Given the description of an element on the screen output the (x, y) to click on. 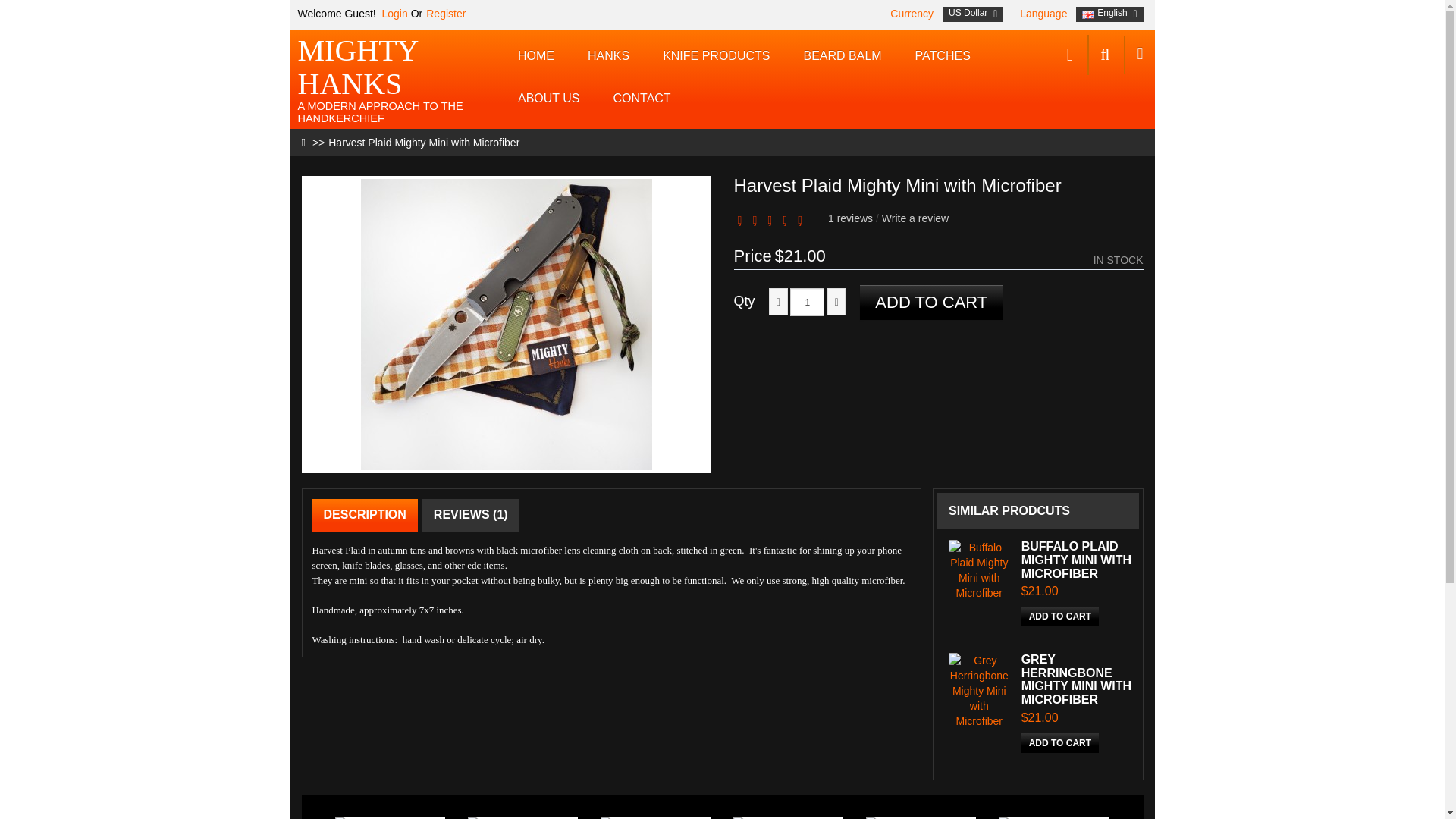
CONTACT (641, 97)
Write a review (915, 218)
BEARD BALM (842, 55)
Orange Plaid Mighty Mini with Microfiber (521, 818)
Harvest Plaid Mighty Mini with Microfiber (424, 142)
Buffalo Plaid Mighty Mini with Microfiber (979, 569)
Login (392, 13)
1 (807, 302)
Harvest Plaid Mighty Mini with Microfiber (506, 324)
US Dollar   (973, 14)
